Given the description of an element on the screen output the (x, y) to click on. 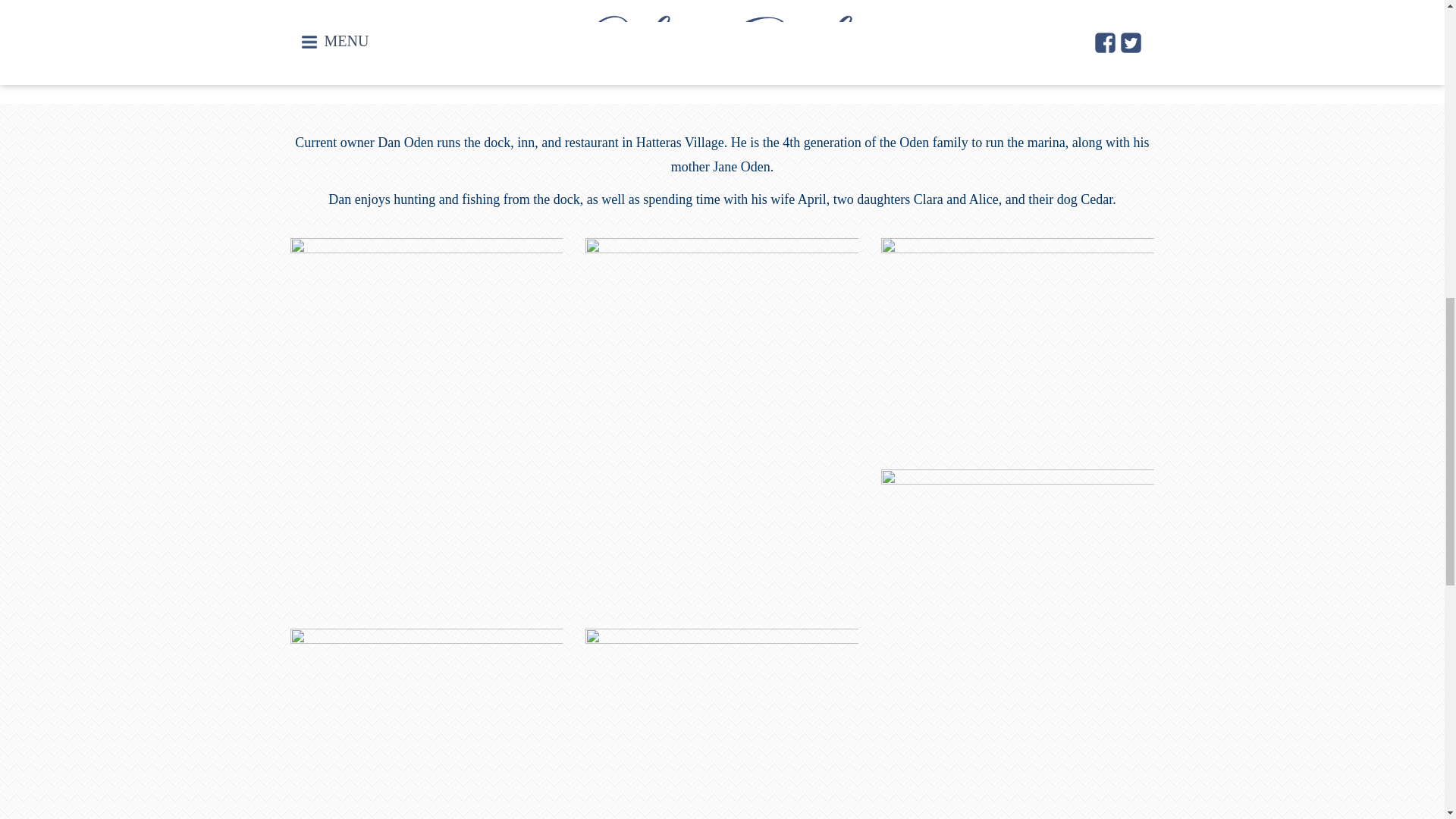
Breakwater Restaurant (476, 7)
